Given the description of an element on the screen output the (x, y) to click on. 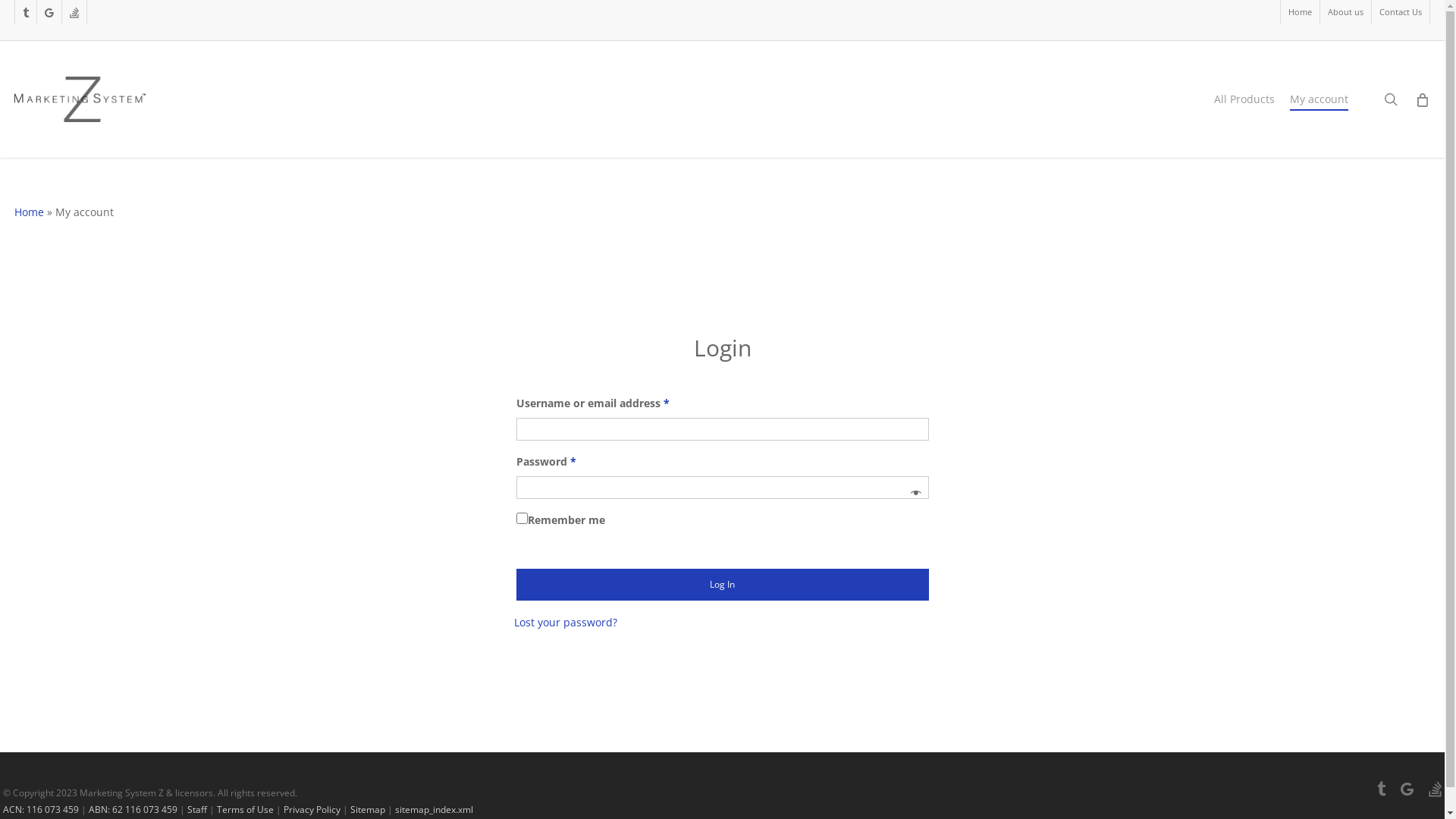
My account Element type: text (1318, 98)
stackexchange Element type: text (73, 12)
About us Element type: text (1345, 11)
Privacy Policy Element type: text (311, 809)
All Products Element type: text (1244, 98)
search Element type: text (1390, 98)
sitemap_index.xml Element type: text (434, 809)
Terms of Use Element type: text (244, 809)
ACN: 116 073 459 Element type: text (40, 809)
tumblr Element type: text (25, 12)
google-plus Element type: text (48, 12)
Lost your password? Element type: text (565, 622)
Staff Element type: text (197, 809)
tumblr Element type: text (1381, 791)
Home Element type: text (1299, 11)
Contact Us Element type: text (1400, 11)
google-plus Element type: text (1406, 791)
stackexchange Element type: text (1434, 791)
Sitemap Element type: text (367, 809)
ABN: 62 116 073 459 Element type: text (132, 809)
Home Element type: text (28, 211)
Log In Element type: text (721, 584)
